Given the description of an element on the screen output the (x, y) to click on. 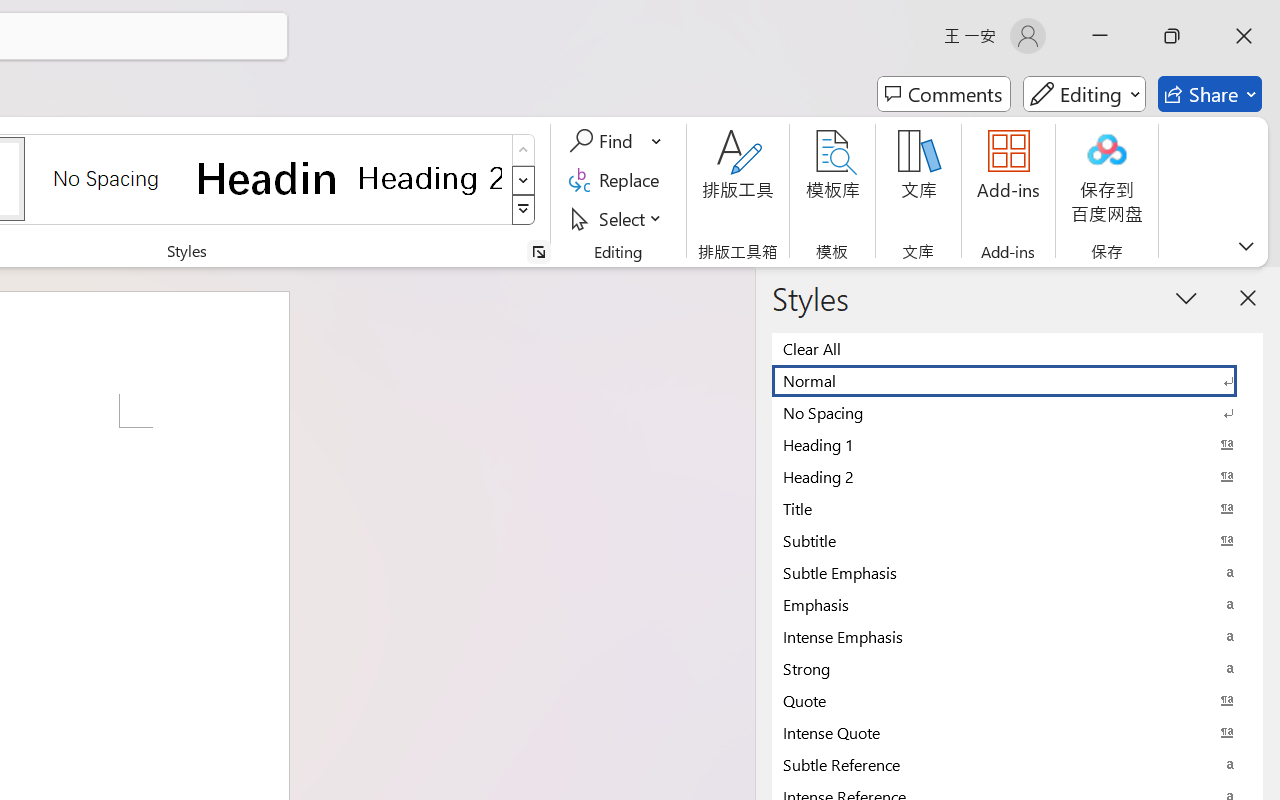
No Spacing (1017, 412)
Intense Emphasis (1017, 636)
Strong (1017, 668)
Styles... (538, 252)
Replace... (617, 179)
Subtitle (1017, 540)
Subtle Emphasis (1017, 572)
Subtle Reference (1017, 764)
Select (618, 218)
Heading 1 (267, 178)
